Given the description of an element on the screen output the (x, y) to click on. 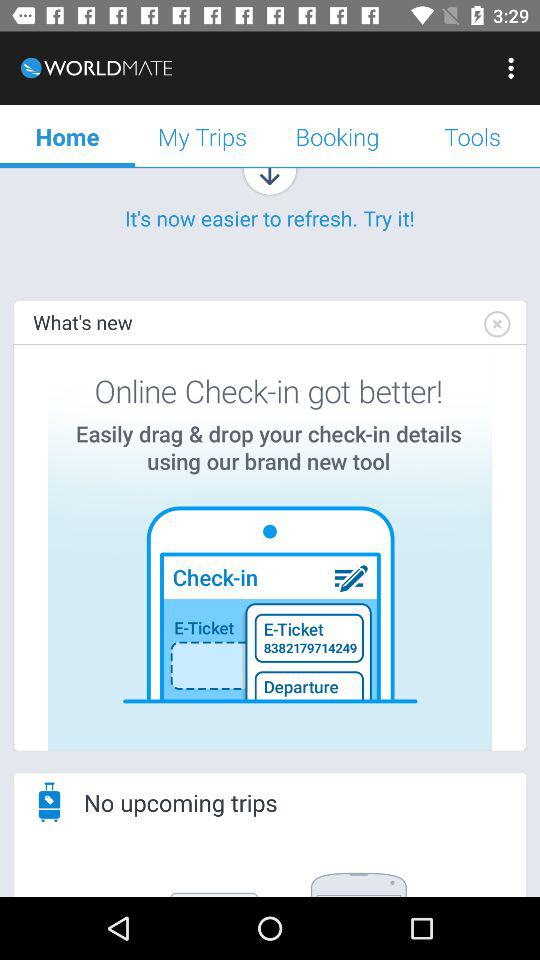
close (496, 323)
